Given the description of an element on the screen output the (x, y) to click on. 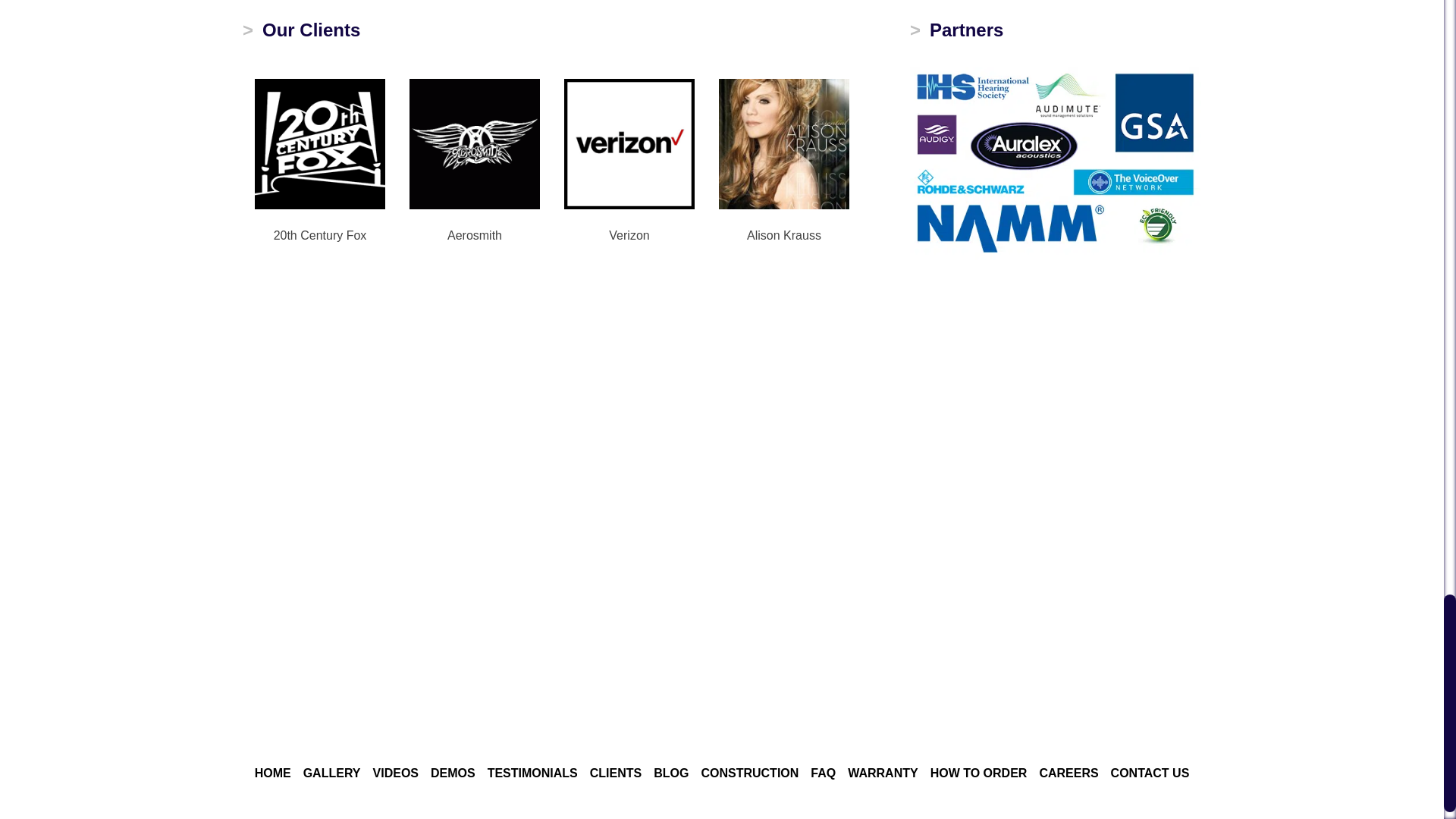
Aerosmith (474, 143)
Alison Krauss (783, 143)
Verizon (628, 143)
20th Century Fox (320, 143)
